Given the description of an element on the screen output the (x, y) to click on. 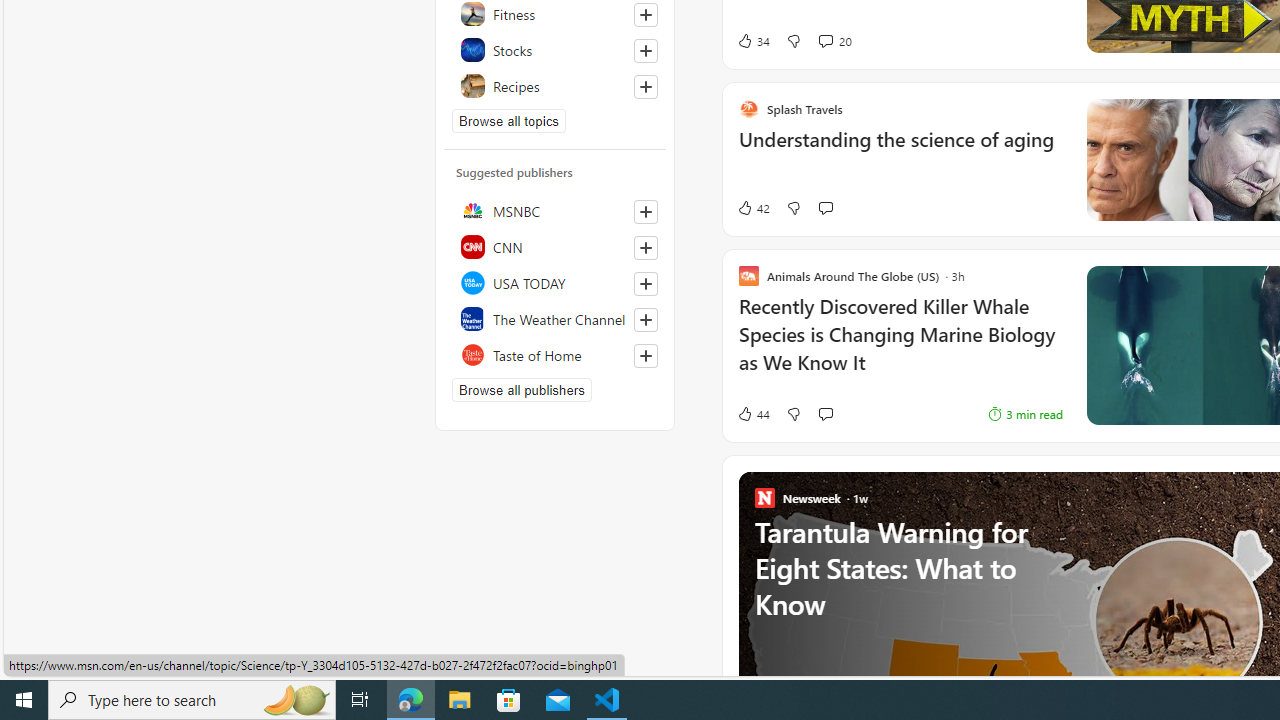
Follow this source (645, 355)
44 Like (753, 413)
Recipes (555, 85)
View comments 20 Comment (834, 40)
Understanding the science of aging (900, 149)
Browse all publishers (521, 389)
USA TODAY (555, 282)
Browse all topics (509, 120)
